Given the description of an element on the screen output the (x, y) to click on. 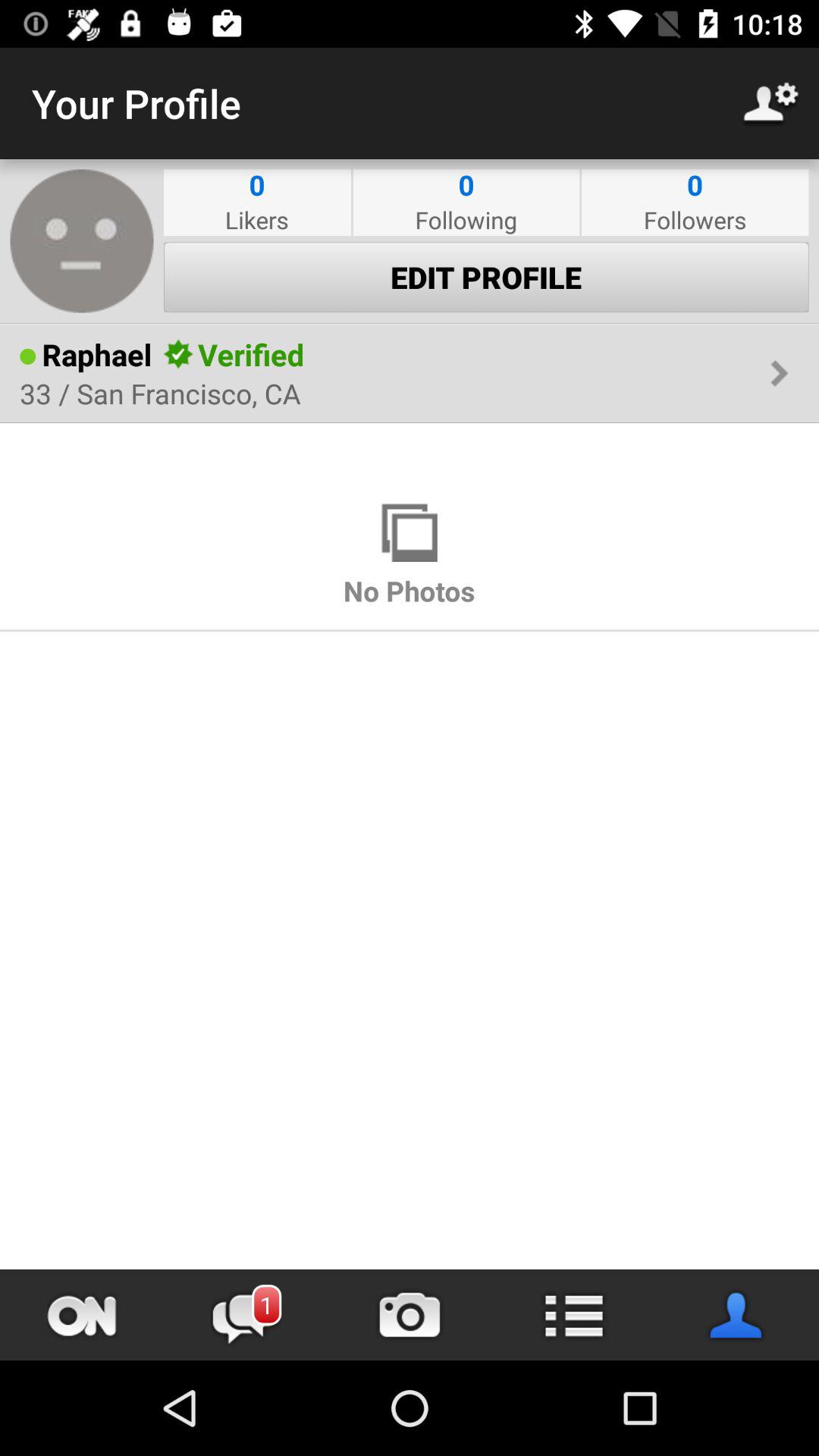
press icon to the right of verified (537, 354)
